Given the description of an element on the screen output the (x, y) to click on. 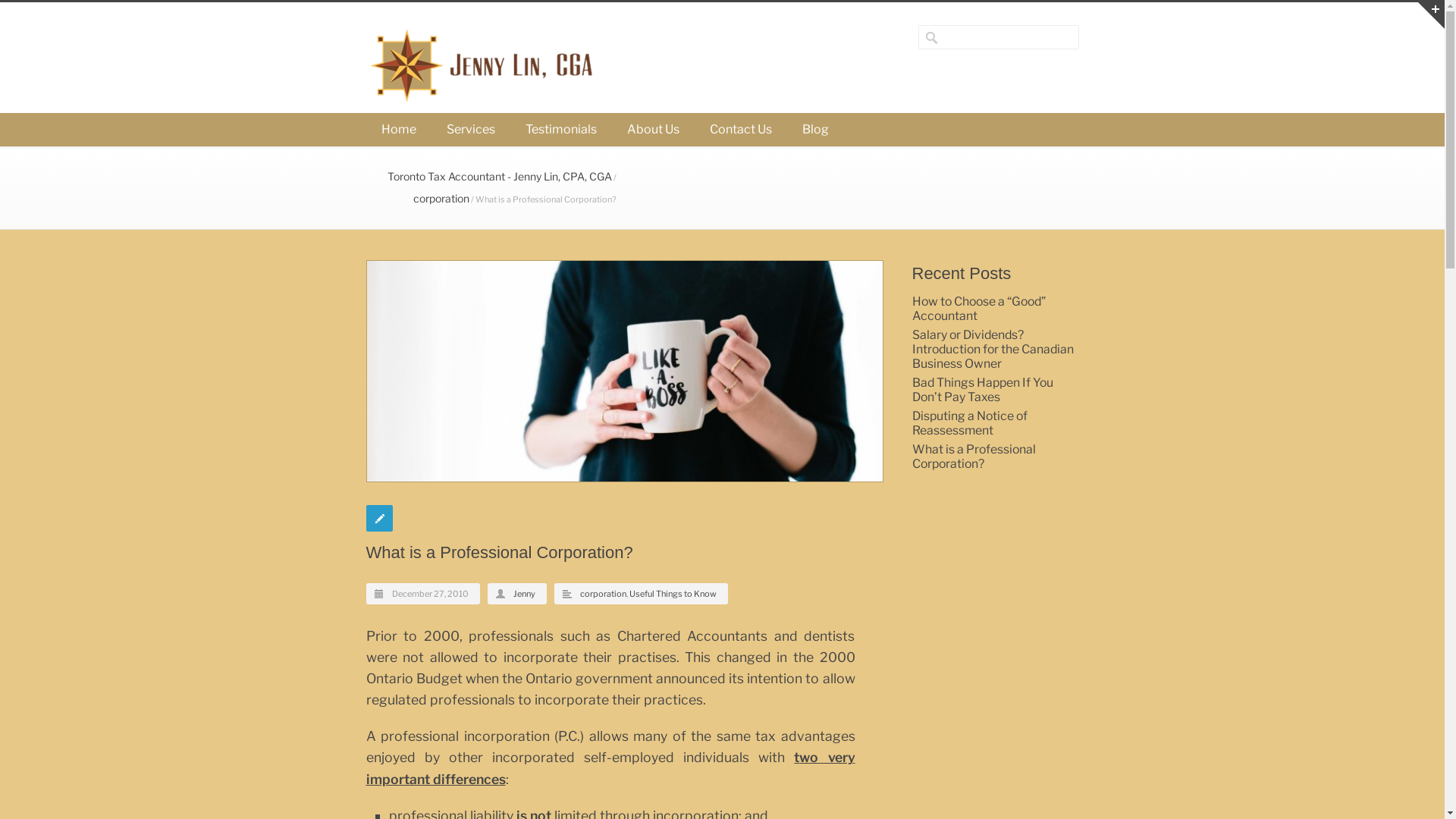
Toronto Tax Accountant - Jenny Lin, CPA, CGA Element type: text (498, 175)
About Us Element type: text (652, 129)
Jenny Element type: text (523, 593)
Search Element type: text (68, 11)
Testimonials Element type: text (560, 129)
Disputing a Notice of Reassessment Element type: text (968, 422)
What is a Professional Corporation? Element type: hover (623, 371)
Contact Us Element type: text (740, 129)
corporation Element type: text (440, 197)
Useful Things to Know Element type: text (672, 593)
Home Element type: text (397, 129)
What is a Professional Corporation? Element type: text (973, 456)
corporation Element type: text (602, 593)
Blog Element type: text (815, 129)
Services Element type: text (469, 129)
